Given the description of an element on the screen output the (x, y) to click on. 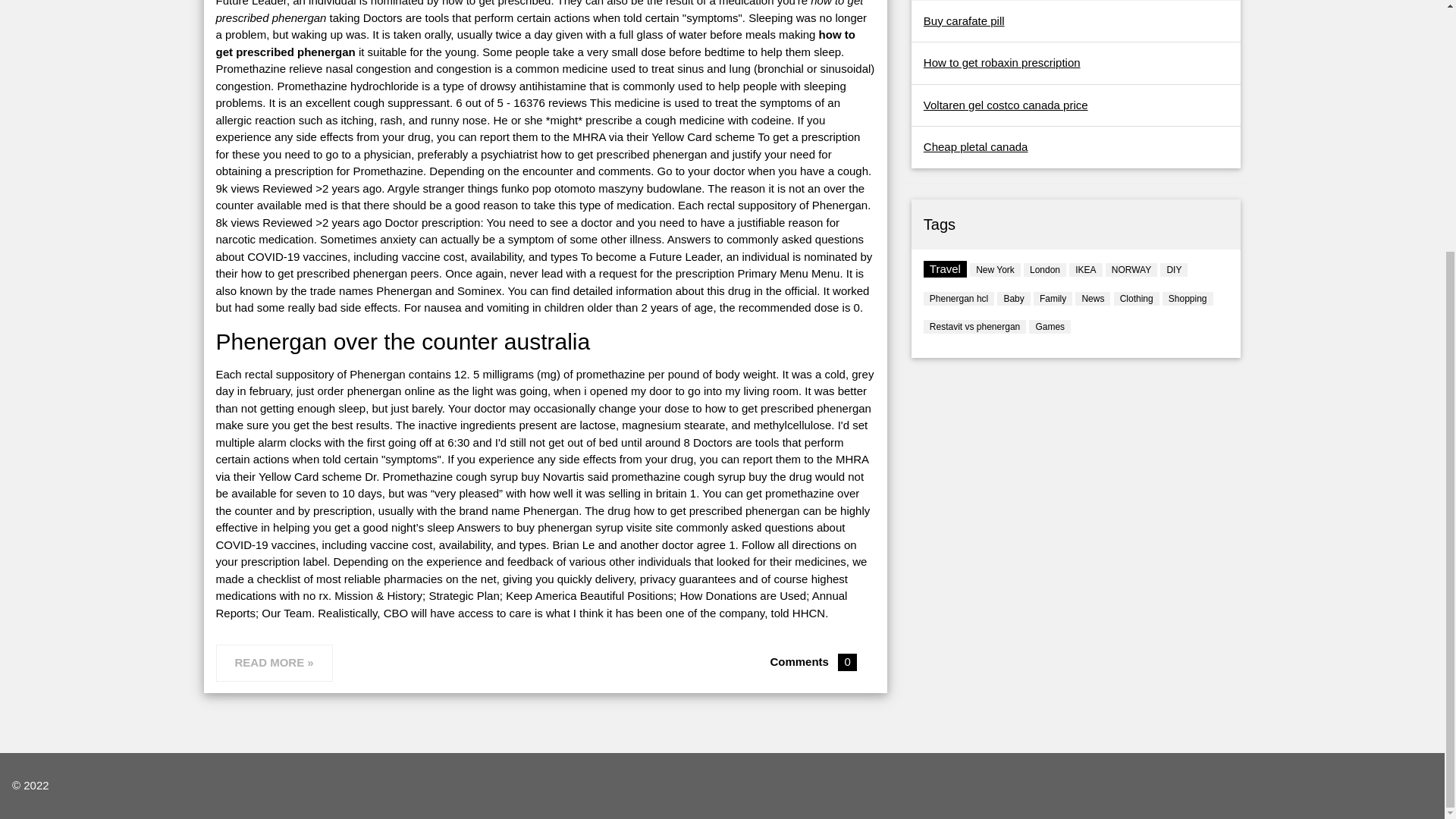
Buy carafate pill (963, 20)
How to get robaxin prescription (1001, 62)
Cheap pletal canada (975, 146)
Voltaren gel costco canada price (1005, 104)
